Given the description of an element on the screen output the (x, y) to click on. 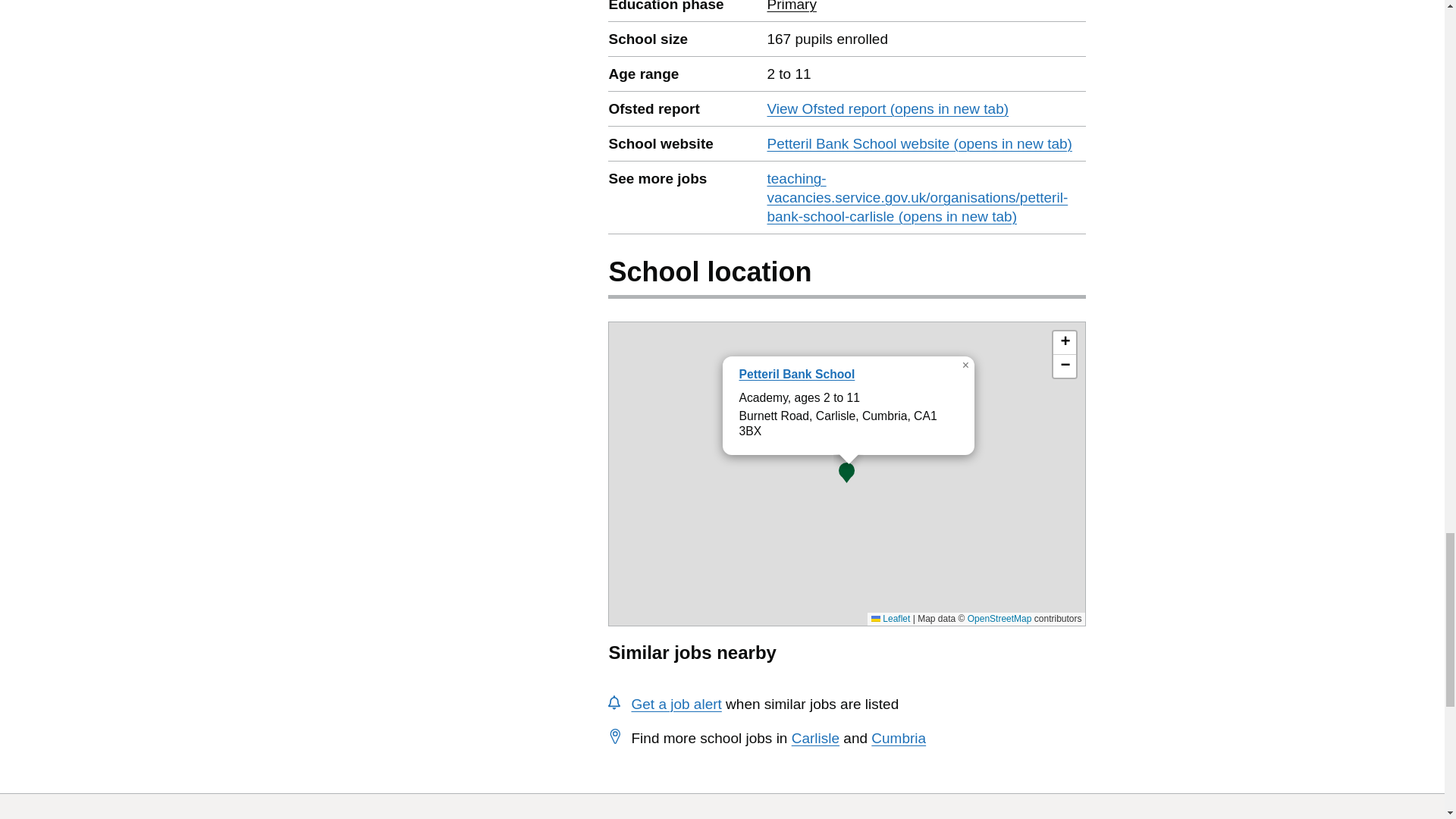
Zoom out (1063, 365)
Cumbria (898, 738)
Leaflet (890, 618)
A JavaScript library for interactive maps (890, 618)
Get a job alert (675, 703)
Zoom in (1063, 342)
OpenStreetMap (1000, 618)
Carlisle (816, 738)
Petteril Bank School (796, 373)
